Given the description of an element on the screen output the (x, y) to click on. 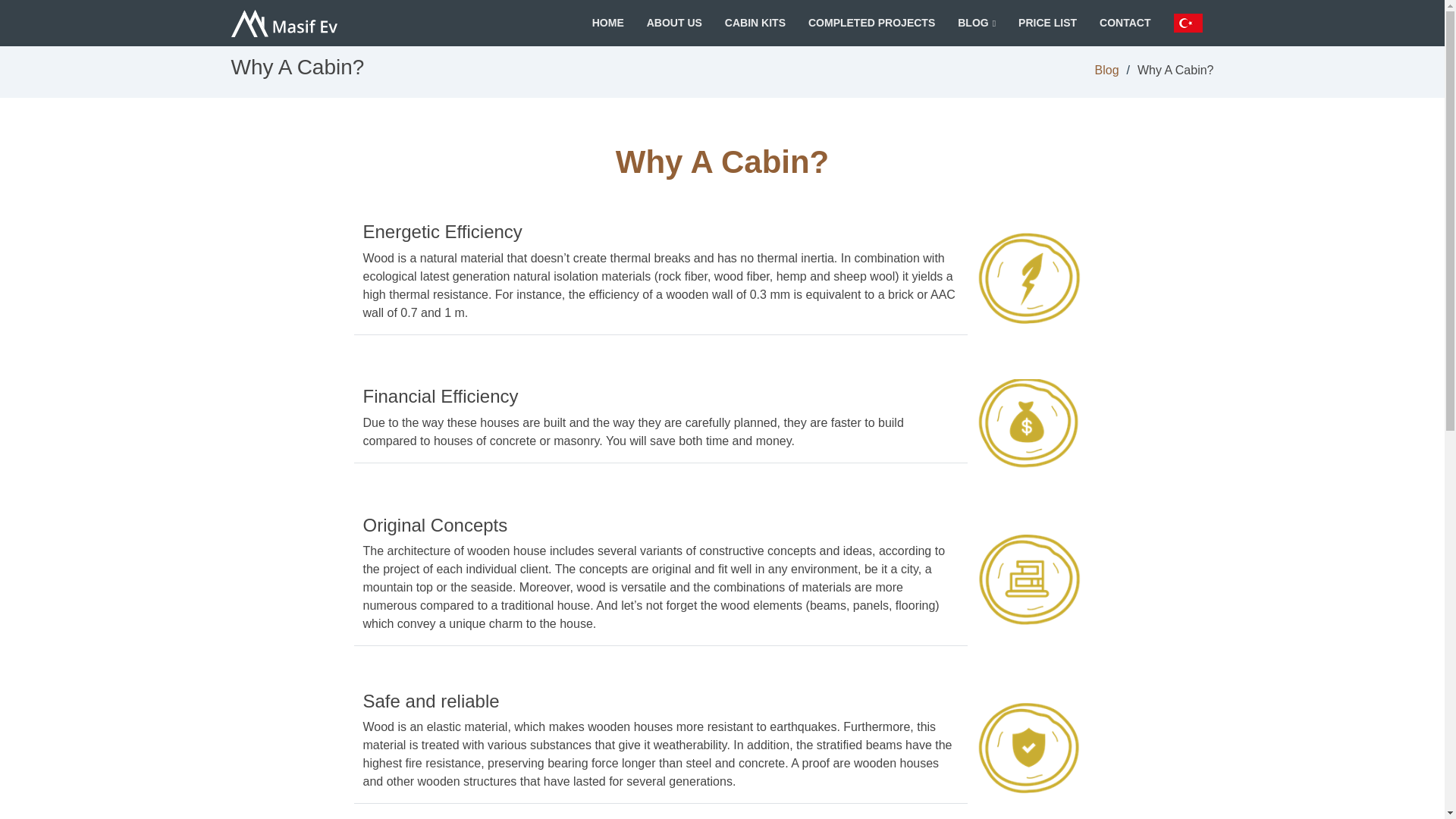
CONTACT (1125, 23)
BLOG (976, 23)
Blog (1106, 69)
HOME (607, 23)
CONTACT (1125, 23)
PRICE LIST (1047, 23)
HOME (607, 23)
PRICE LIST (1047, 23)
CABIN KITS (754, 23)
ABOUT US (674, 23)
COMPLETED PROJECTS (871, 23)
COMPLETED PROJECTS (871, 23)
CABIN KITS (754, 23)
ABOUT US (674, 23)
